Given the description of an element on the screen output the (x, y) to click on. 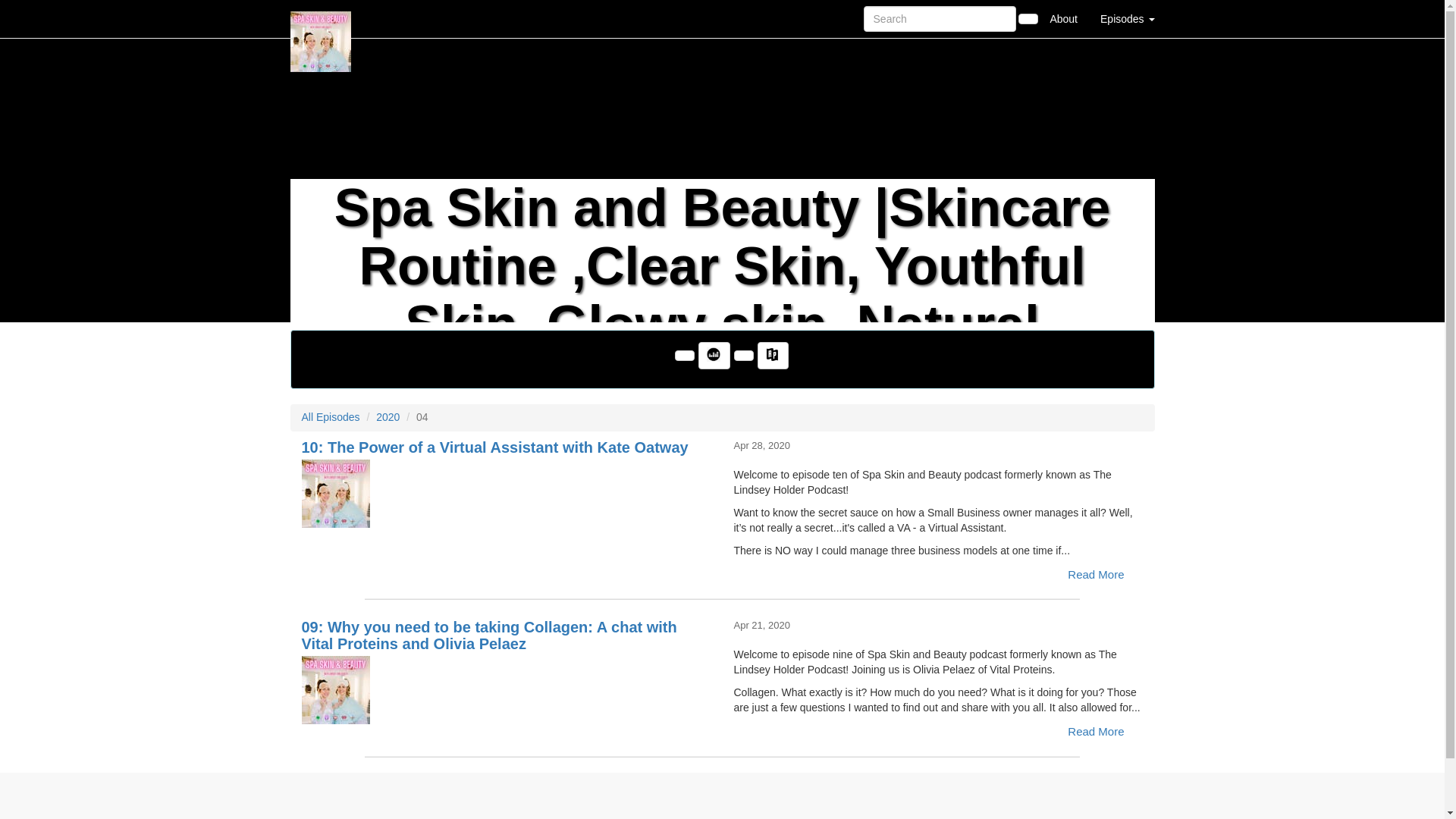
Home Page (320, 18)
10: The Power of a Virtual Assistant with Kate Oatway (506, 493)
Episodes (1127, 18)
About (1063, 18)
